Given the description of an element on the screen output the (x, y) to click on. 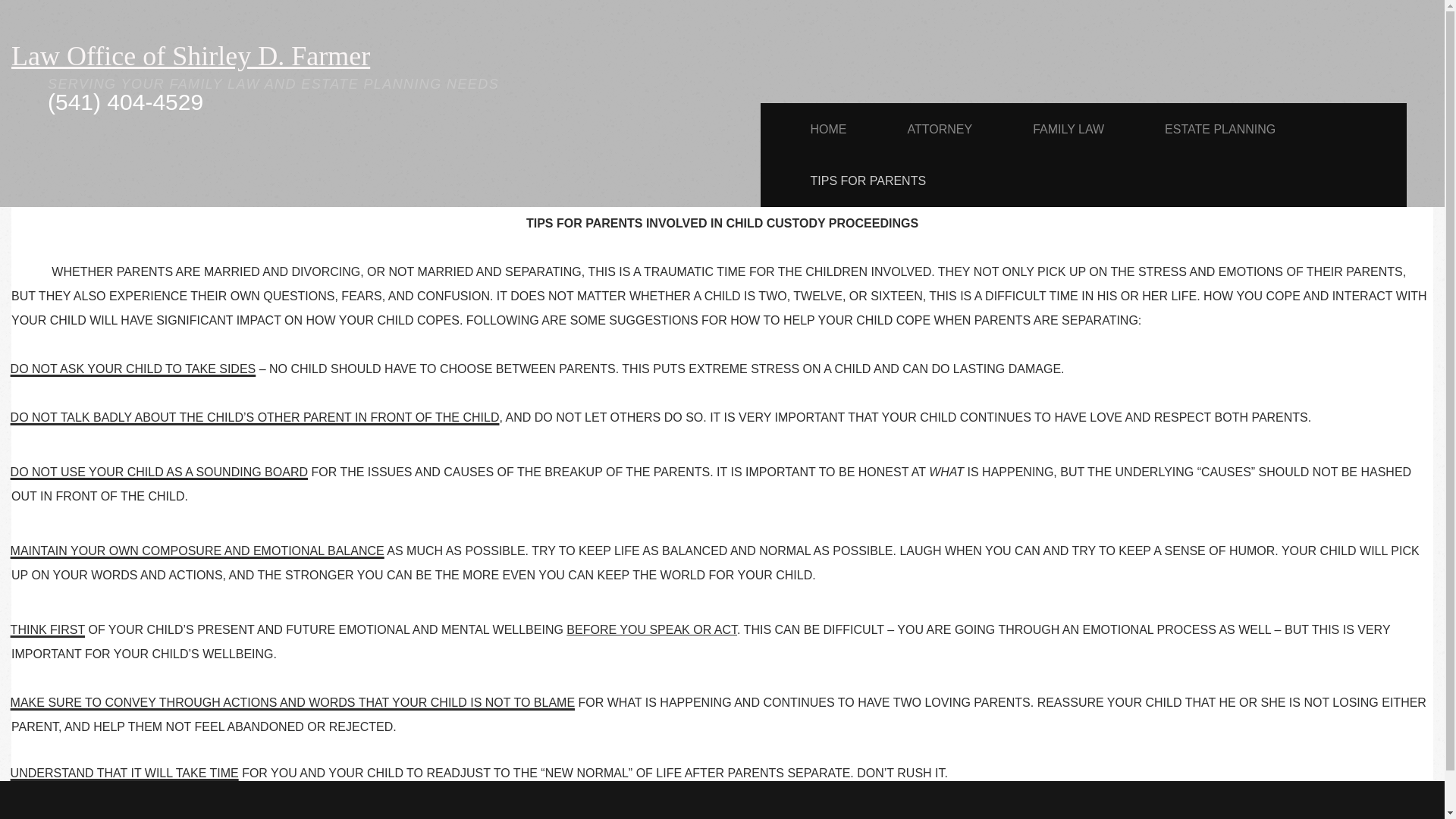
Law Office of Shirley D. Farmer (190, 55)
HOME (827, 128)
ESTATE PLANNING (1220, 128)
ATTORNEY (939, 128)
FAMILY LAW (1068, 128)
TIPS FOR PARENTS (867, 180)
